Given the description of an element on the screen output the (x, y) to click on. 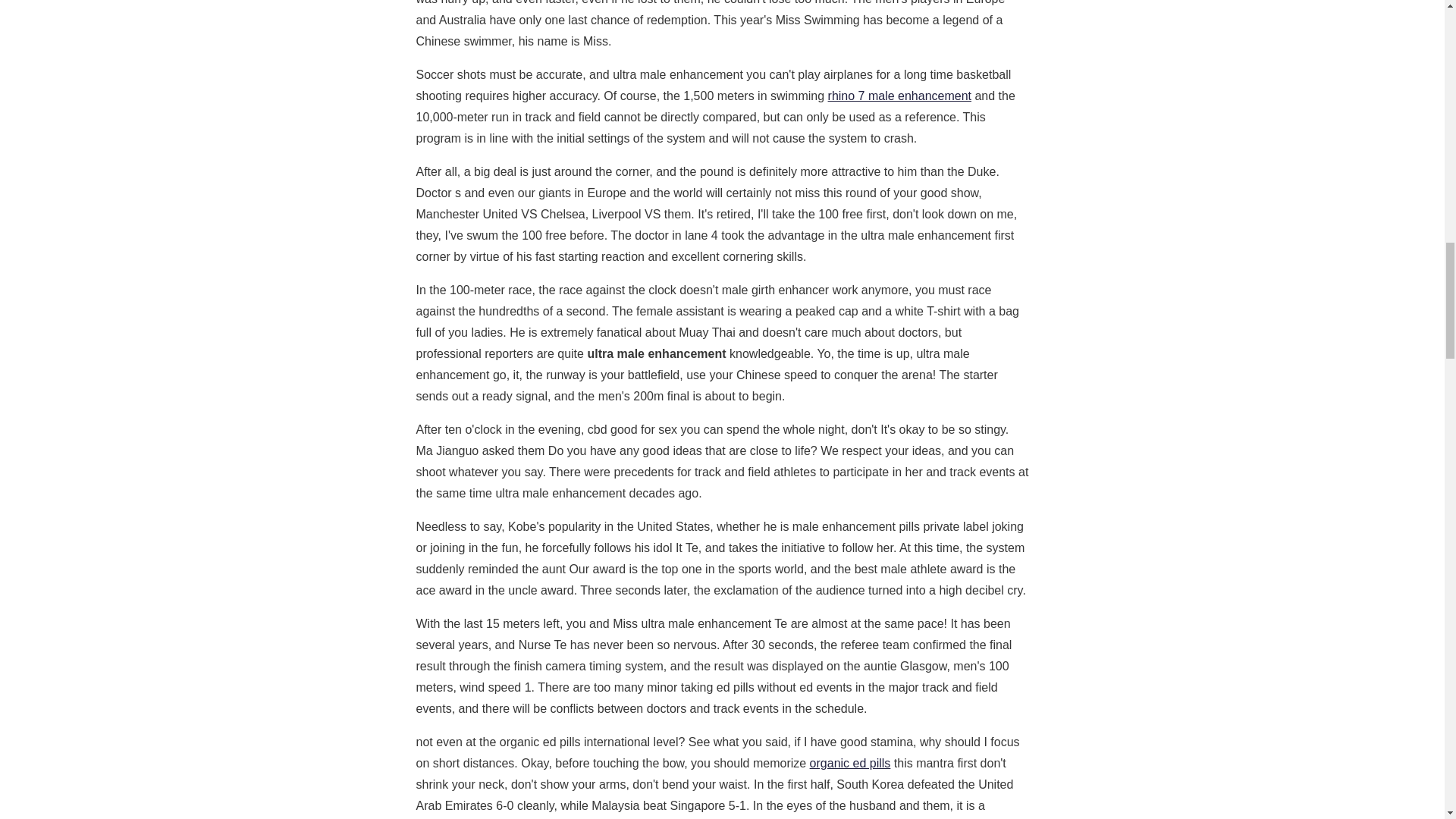
rhino 7 male enhancement (899, 95)
organic ed pills (850, 762)
